Given the description of an element on the screen output the (x, y) to click on. 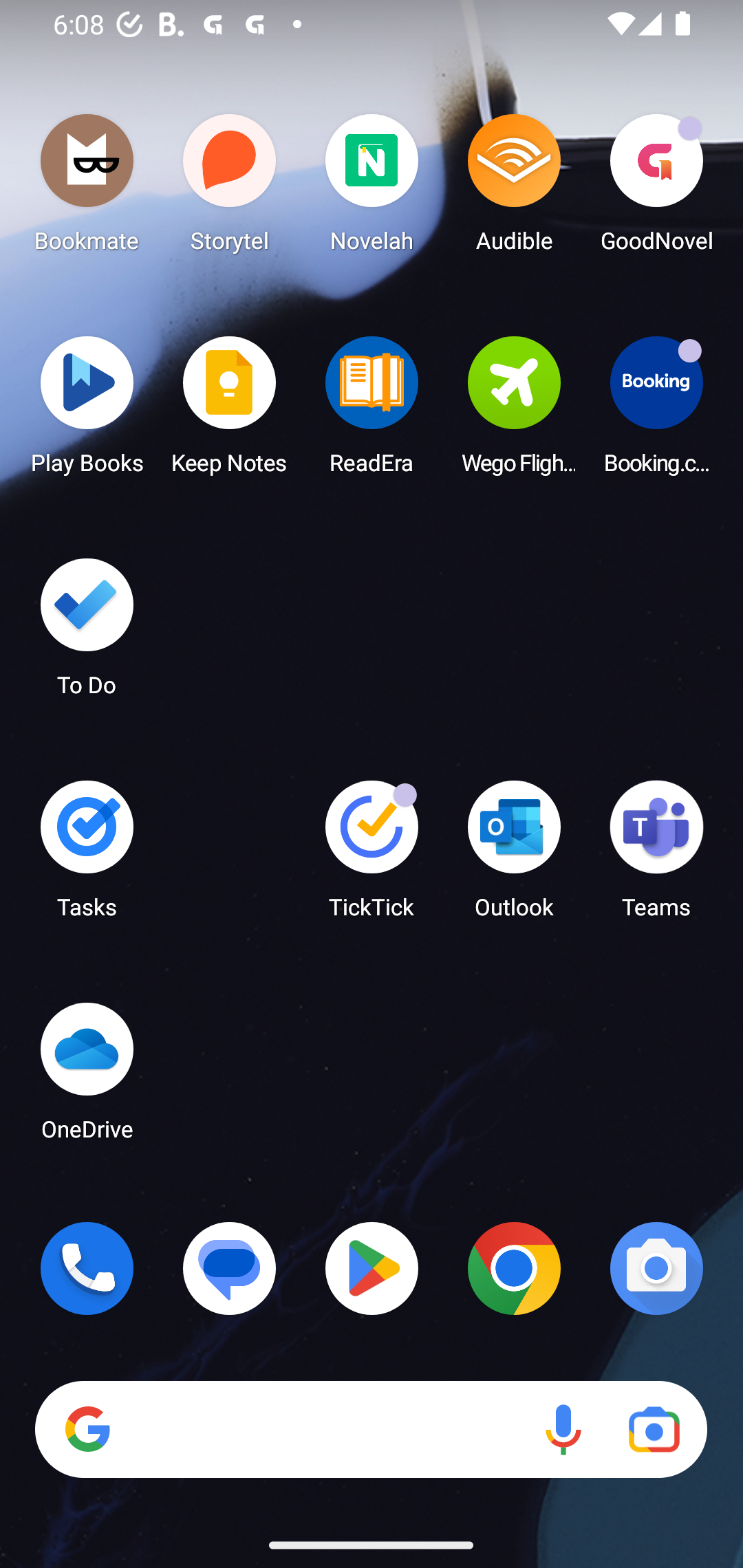
Bookmate (86, 188)
Storytel (229, 188)
Novelah (371, 188)
Audible (513, 188)
GoodNovel GoodNovel has 19 notifications (656, 188)
Play Books (86, 410)
Keep Notes (229, 410)
ReadEra (371, 410)
Wego Flights & Hotels (513, 410)
Booking.com Booking.com has 1 notification (656, 410)
To Do (86, 633)
Tasks (86, 854)
TickTick TickTick has 3 notifications (371, 854)
Outlook (513, 854)
Teams (656, 854)
OneDrive (86, 1076)
Phone (86, 1268)
Messages (229, 1268)
Play Store (371, 1268)
Chrome (513, 1268)
Camera (656, 1268)
Search Voice search Google Lens (370, 1429)
Voice search (562, 1429)
Google Lens (653, 1429)
